Given the description of an element on the screen output the (x, y) to click on. 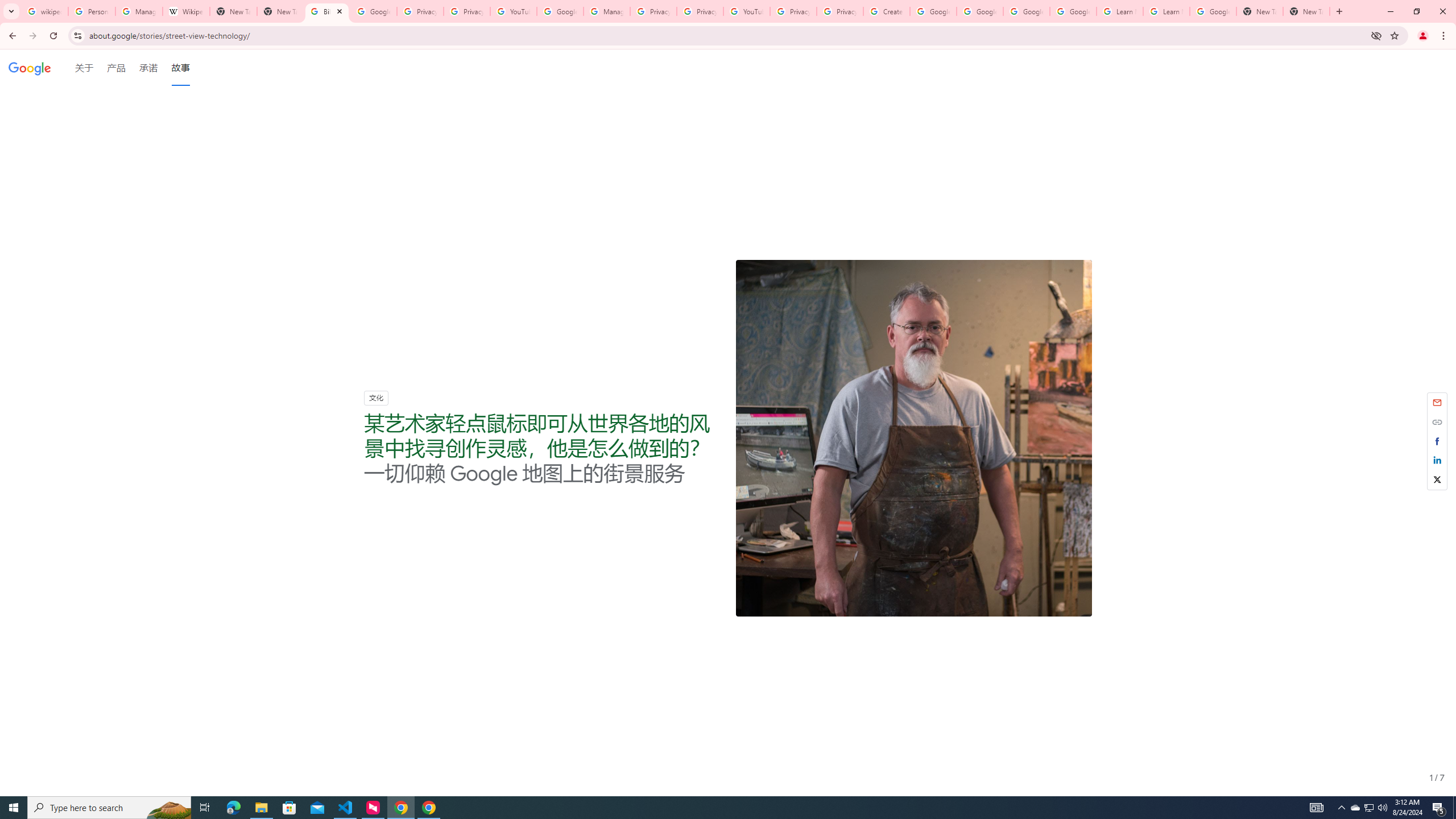
Google Account Help (559, 11)
Google Drive: Sign-in (373, 11)
New Tab (1306, 11)
Personalization & Google Search results - Google Search Help (91, 11)
